Given the description of an element on the screen output the (x, y) to click on. 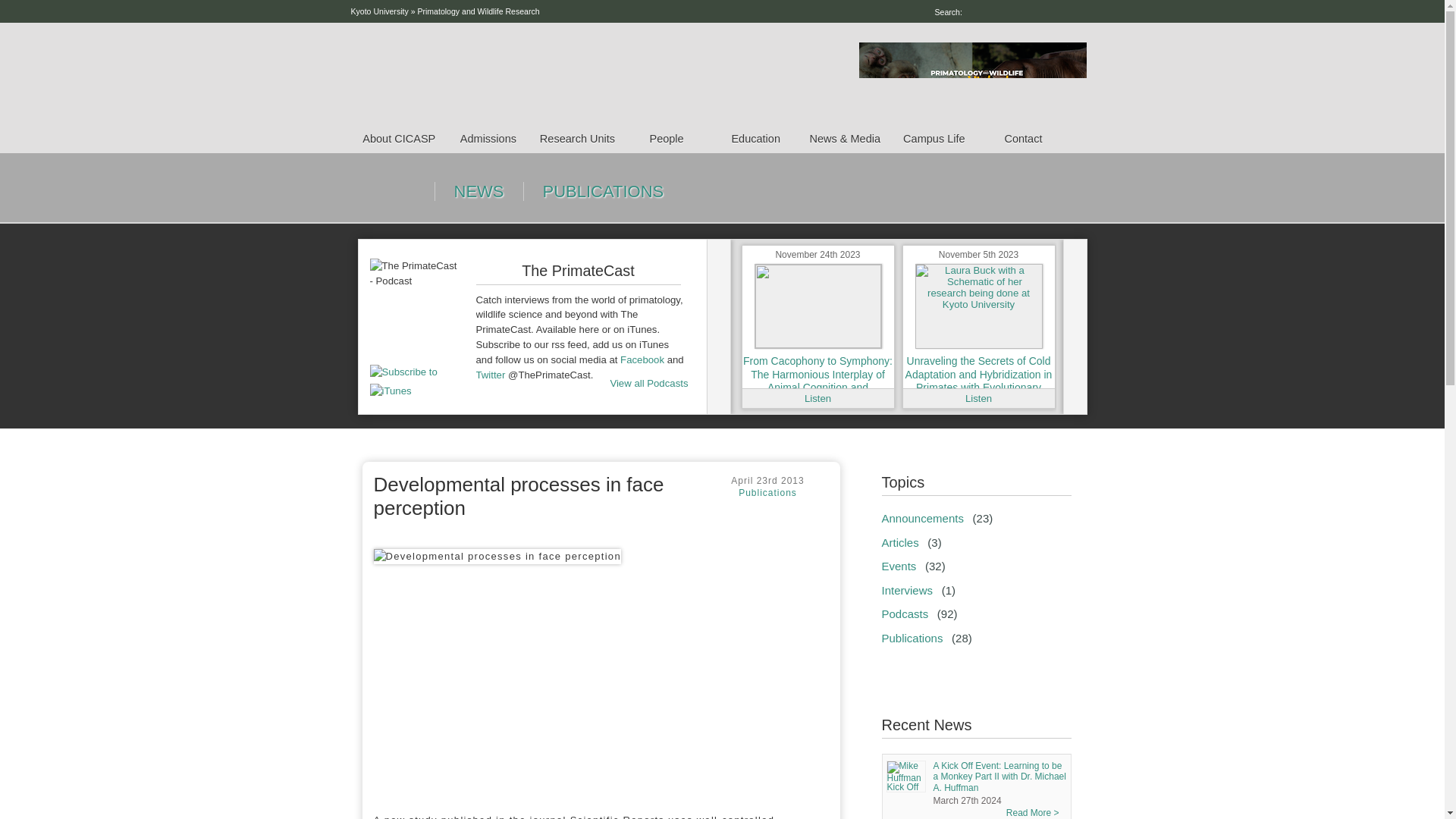
Research Units (577, 136)
Research Units (577, 136)
PUBLICATIONS (602, 190)
Campus Life (933, 136)
Contact (1023, 136)
Admissions (488, 136)
Primatology and Wildlife Research (477, 10)
Enter the terms you wish to search for. (1024, 12)
Home (600, 75)
